Given the description of an element on the screen output the (x, y) to click on. 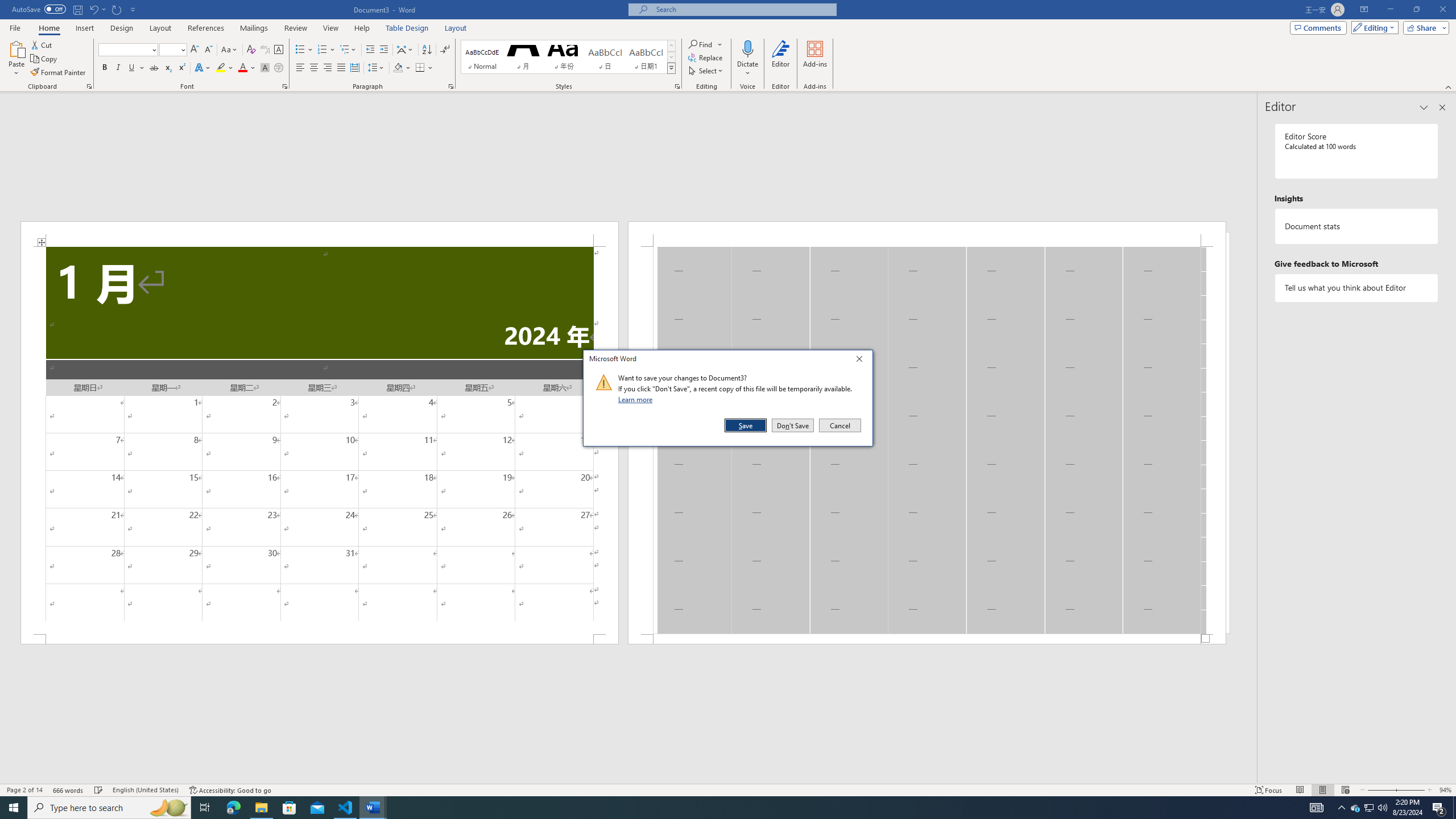
Shading RGB(0, 0, 0) (397, 67)
Word - 2 running windows (373, 807)
Class: NetUIScrollBar (628, 778)
Distributed (354, 67)
Running applications (717, 807)
Styles (670, 67)
Editor (780, 58)
